Given the description of an element on the screen output the (x, y) to click on. 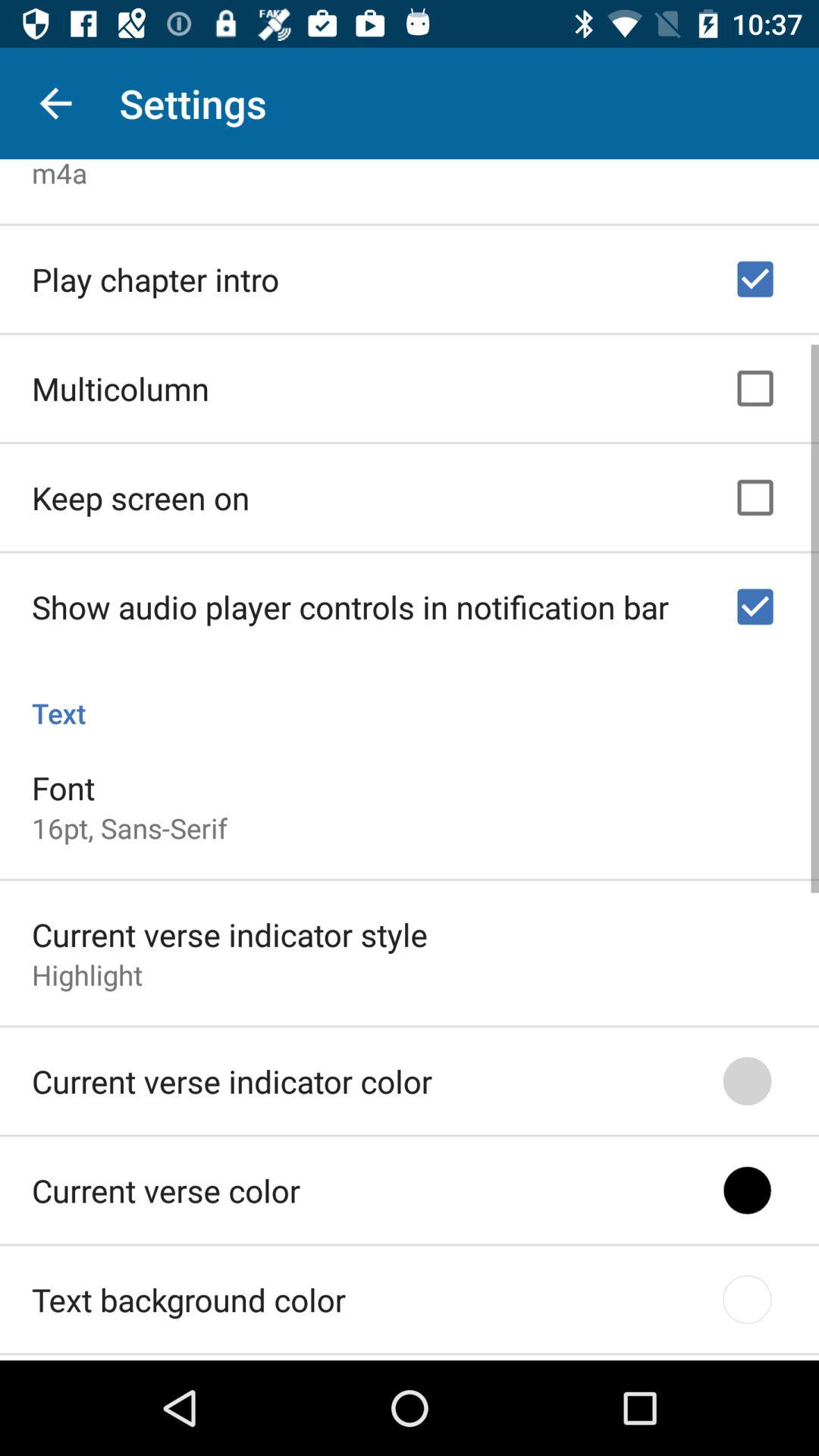
scroll until the 16pt, sans-serif icon (129, 823)
